Given the description of an element on the screen output the (x, y) to click on. 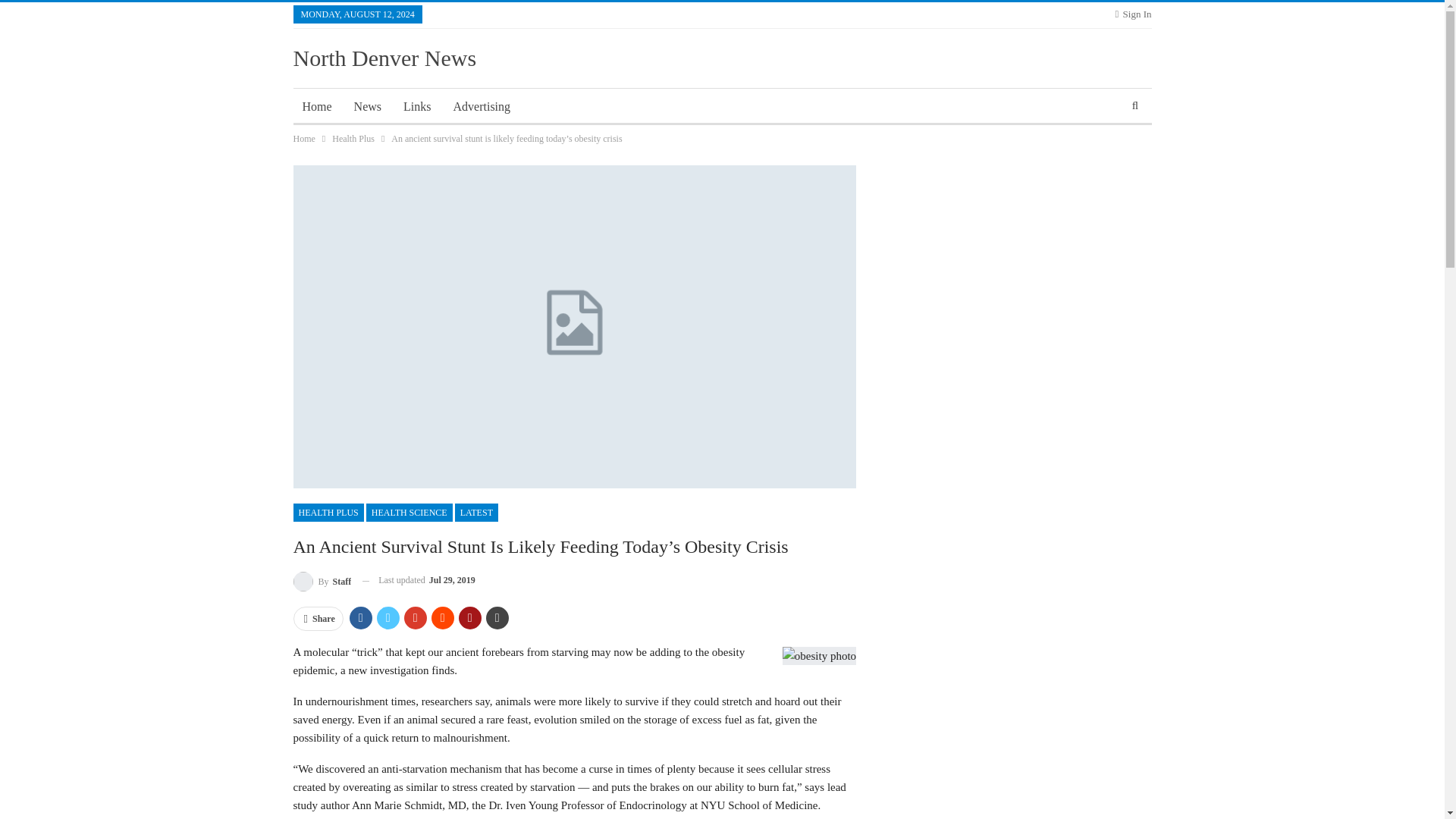
North Denver News (384, 57)
Links (416, 106)
HEALTH SCIENCE (409, 512)
Home (303, 138)
HEALTH PLUS (327, 512)
Browse Author Articles (321, 580)
Advertising (481, 106)
Health Plus (352, 138)
Sign In (1133, 13)
News (367, 106)
